Given the description of an element on the screen output the (x, y) to click on. 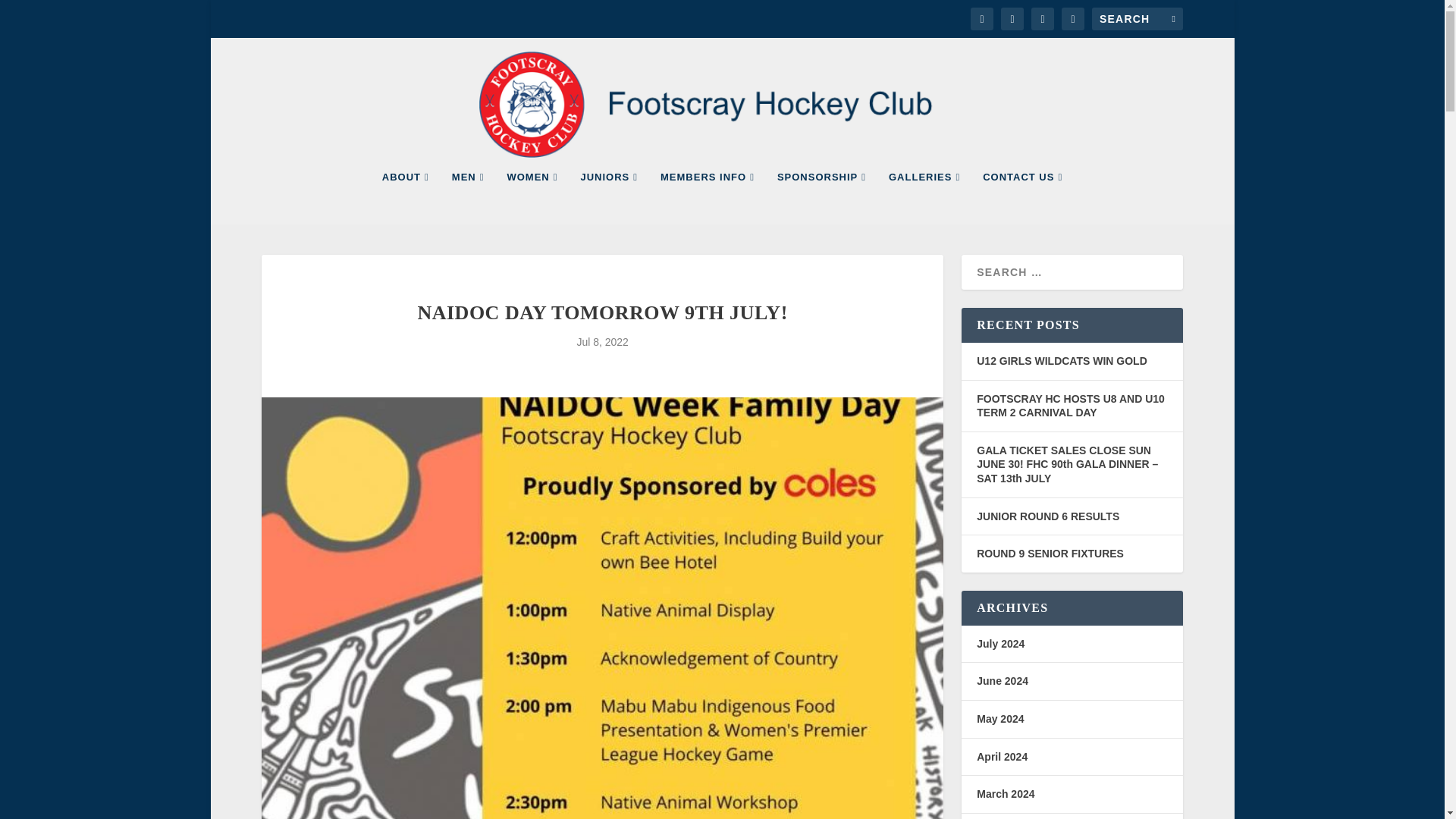
WOMEN (531, 197)
